Given the description of an element on the screen output the (x, y) to click on. 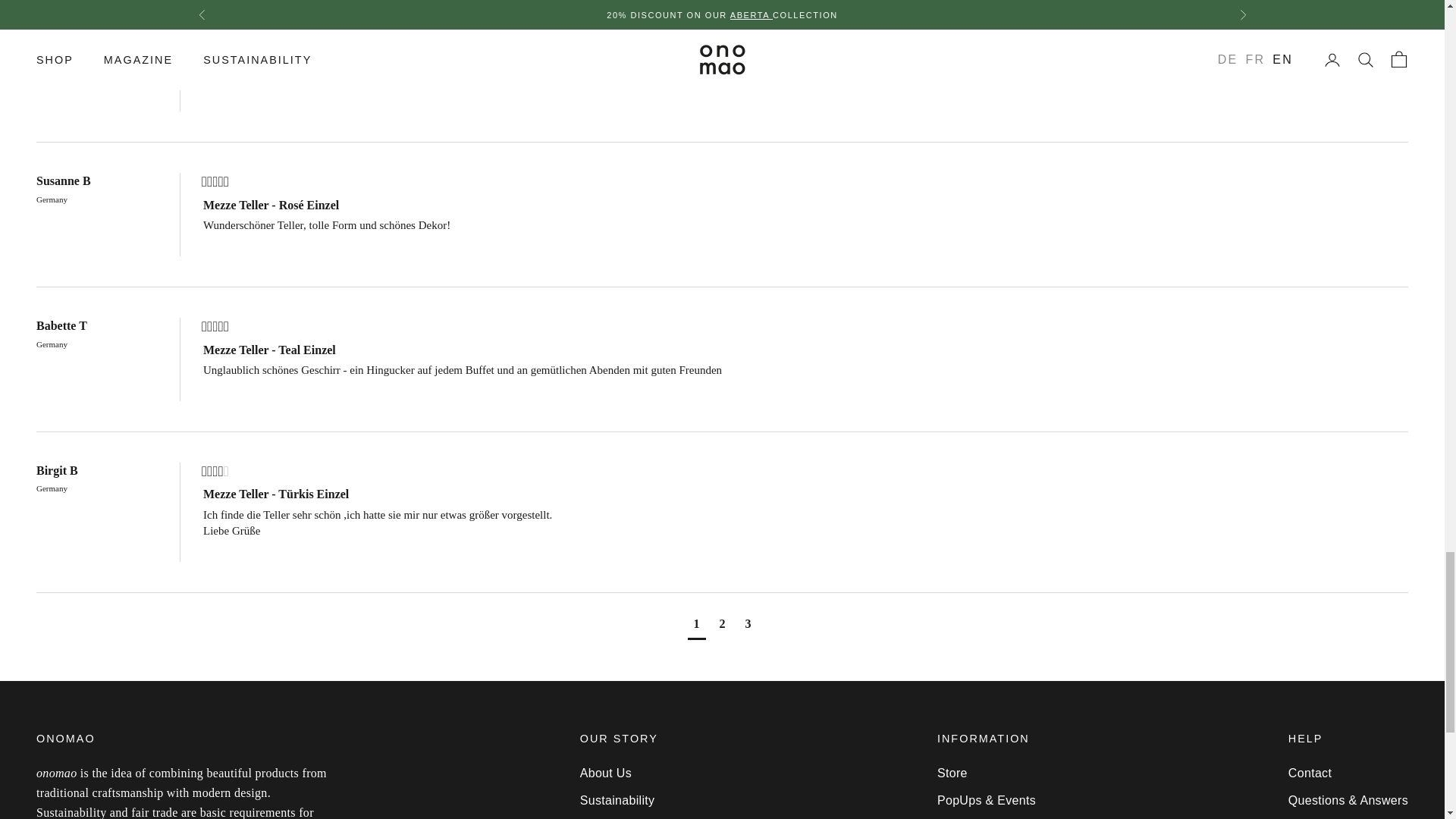
5 Stars (215, 182)
4 Stars (215, 472)
5 Stars (215, 327)
5 Stars (215, 38)
